Given the description of an element on the screen output the (x, y) to click on. 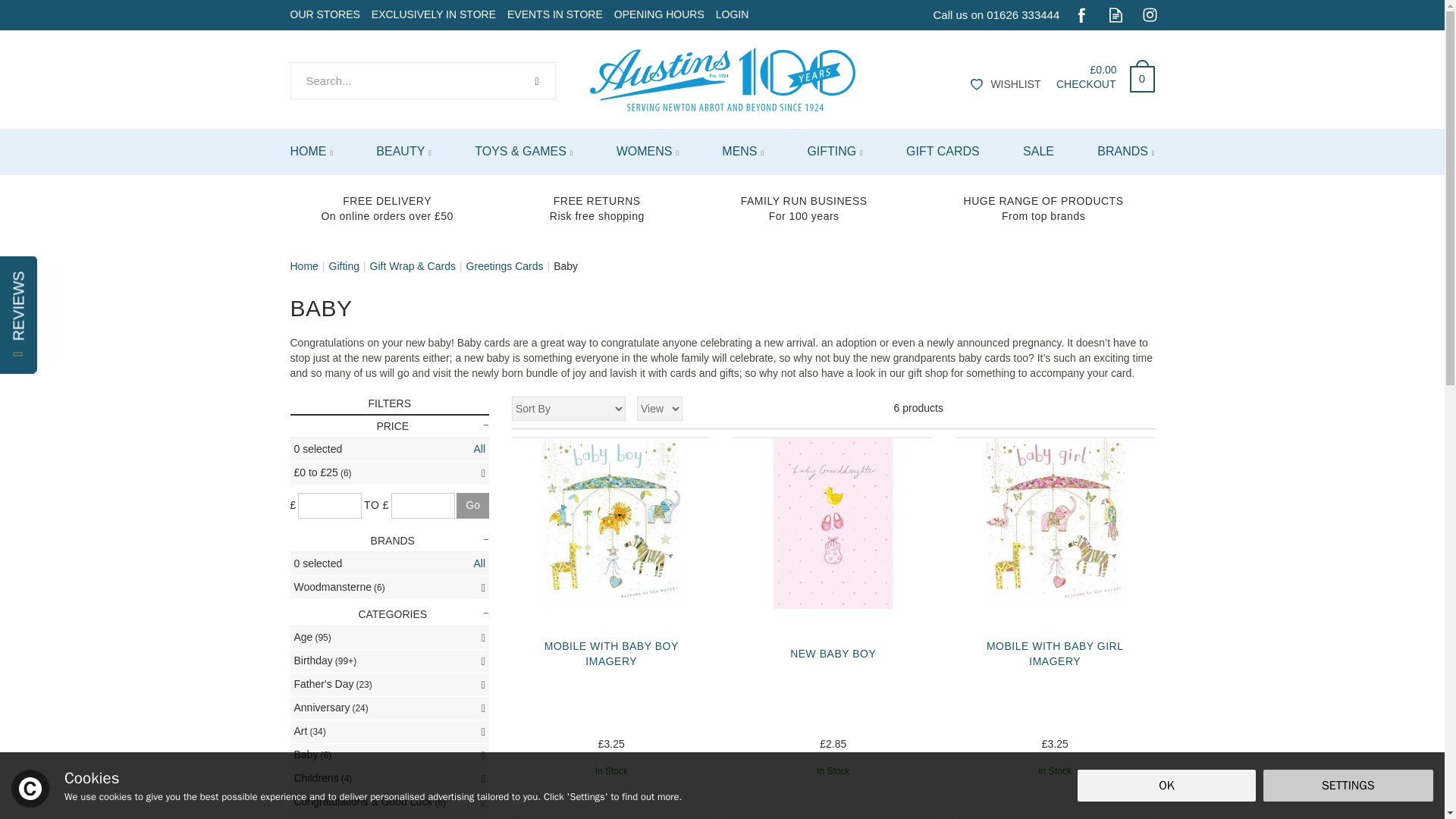
Follow us on Facebook (1080, 14)
PRICE (389, 426)
CATEGORIES (389, 614)
Go (473, 505)
Gifting (344, 265)
Read our Blog (1114, 14)
BRANDS (389, 540)
Home (303, 265)
Greetings Cards (504, 265)
Follow us on Instagram (1149, 14)
Go (473, 505)
WISHLIST (1003, 84)
CHECKOUT (1086, 83)
Bag (1136, 74)
